Given the description of an element on the screen output the (x, y) to click on. 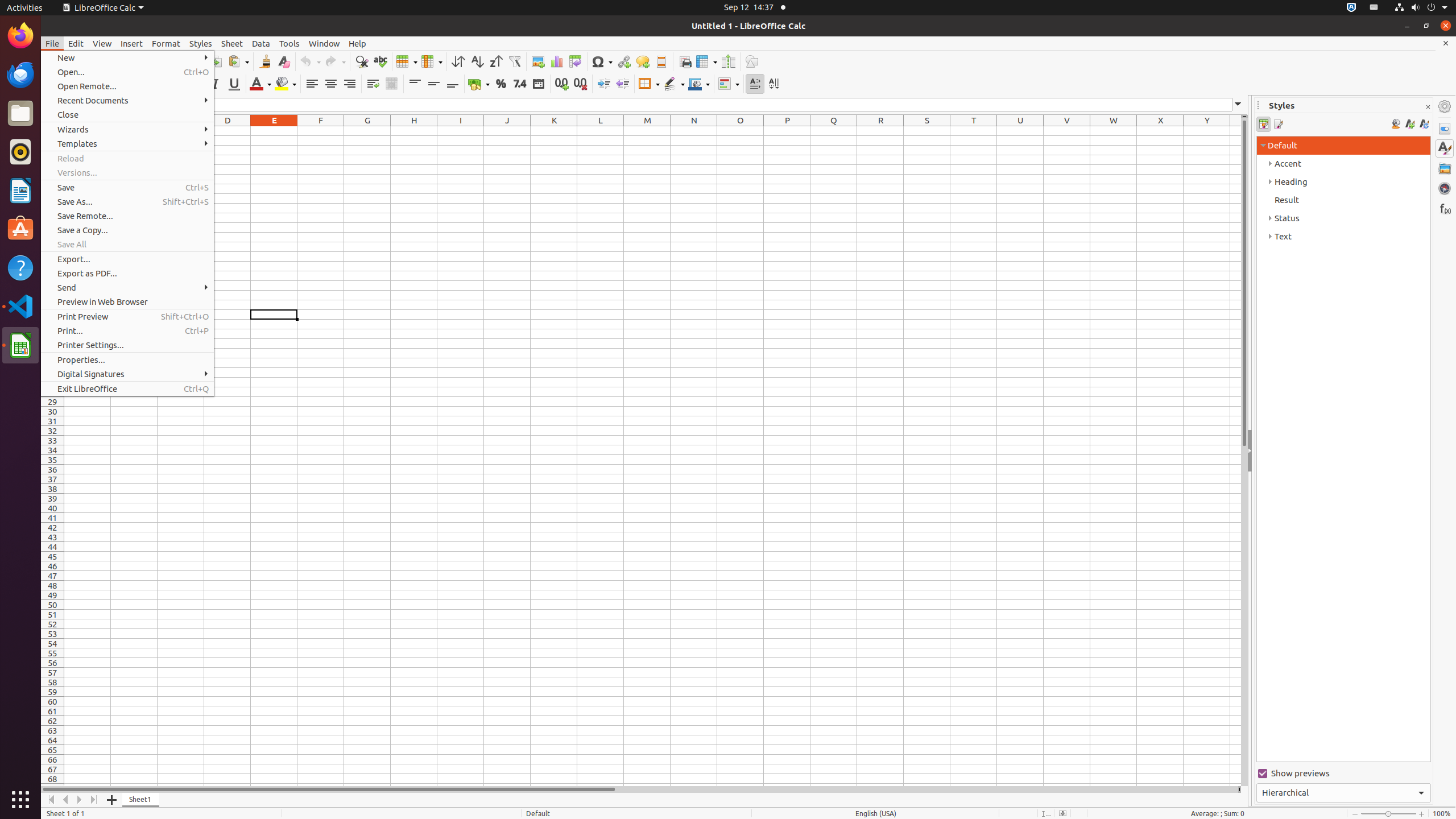
Delete Decimal Place Element type: push-button (580, 83)
X1 Element type: table-cell (1159, 130)
H1 Element type: table-cell (413, 130)
Sheet1 Element type: page-tab (140, 799)
Cell Styles Element type: push-button (1263, 123)
